Given the description of an element on the screen output the (x, y) to click on. 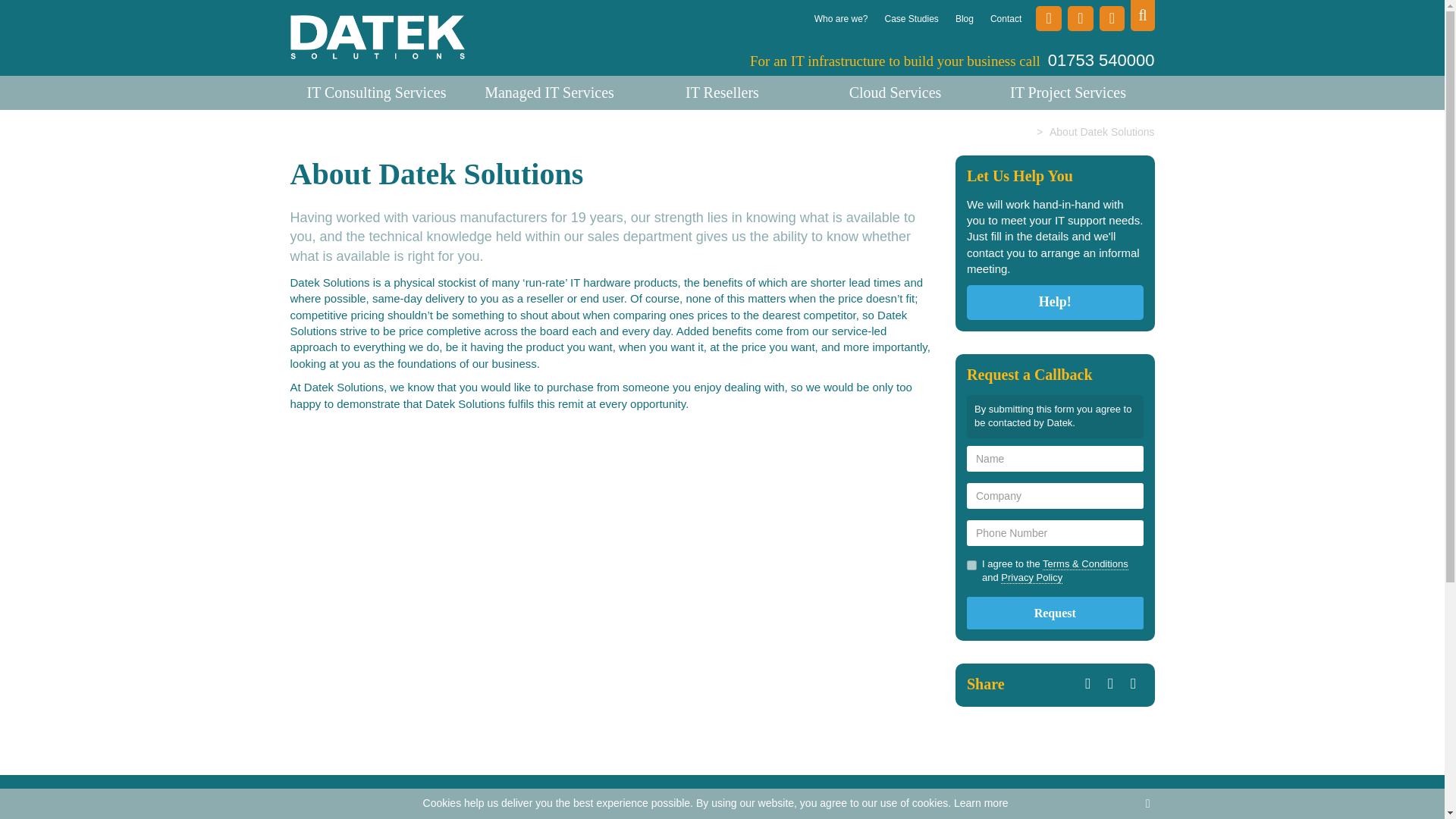
Twitter (1110, 682)
Case Studies (910, 14)
Datek Solutions (376, 37)
IT Resellers (721, 92)
IT Consulting Services (376, 92)
Contact (1005, 14)
Cloud Services (894, 92)
Linkedin (1133, 682)
01753 540000 (1101, 59)
Blog (964, 14)
